Given the description of an element on the screen output the (x, y) to click on. 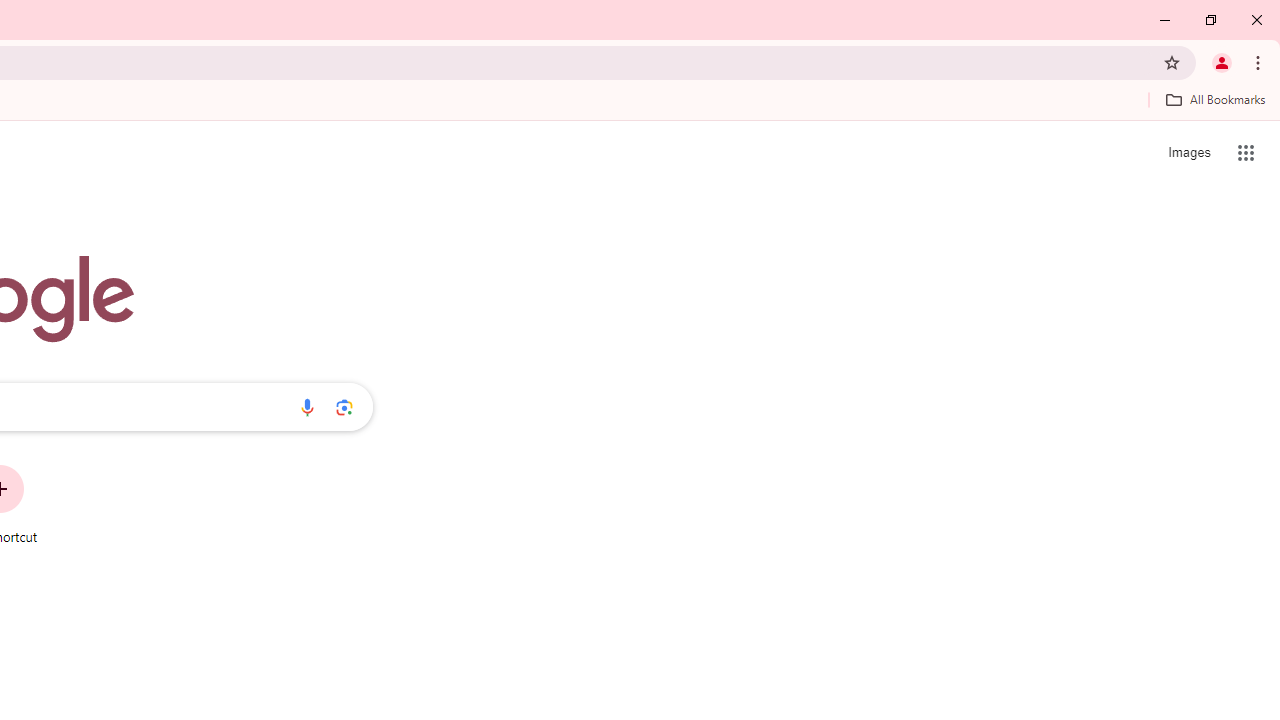
Search by voice (307, 407)
Google apps (1245, 152)
Search by image (344, 407)
Search for Images  (1188, 152)
All Bookmarks (1215, 99)
